Given the description of an element on the screen output the (x, y) to click on. 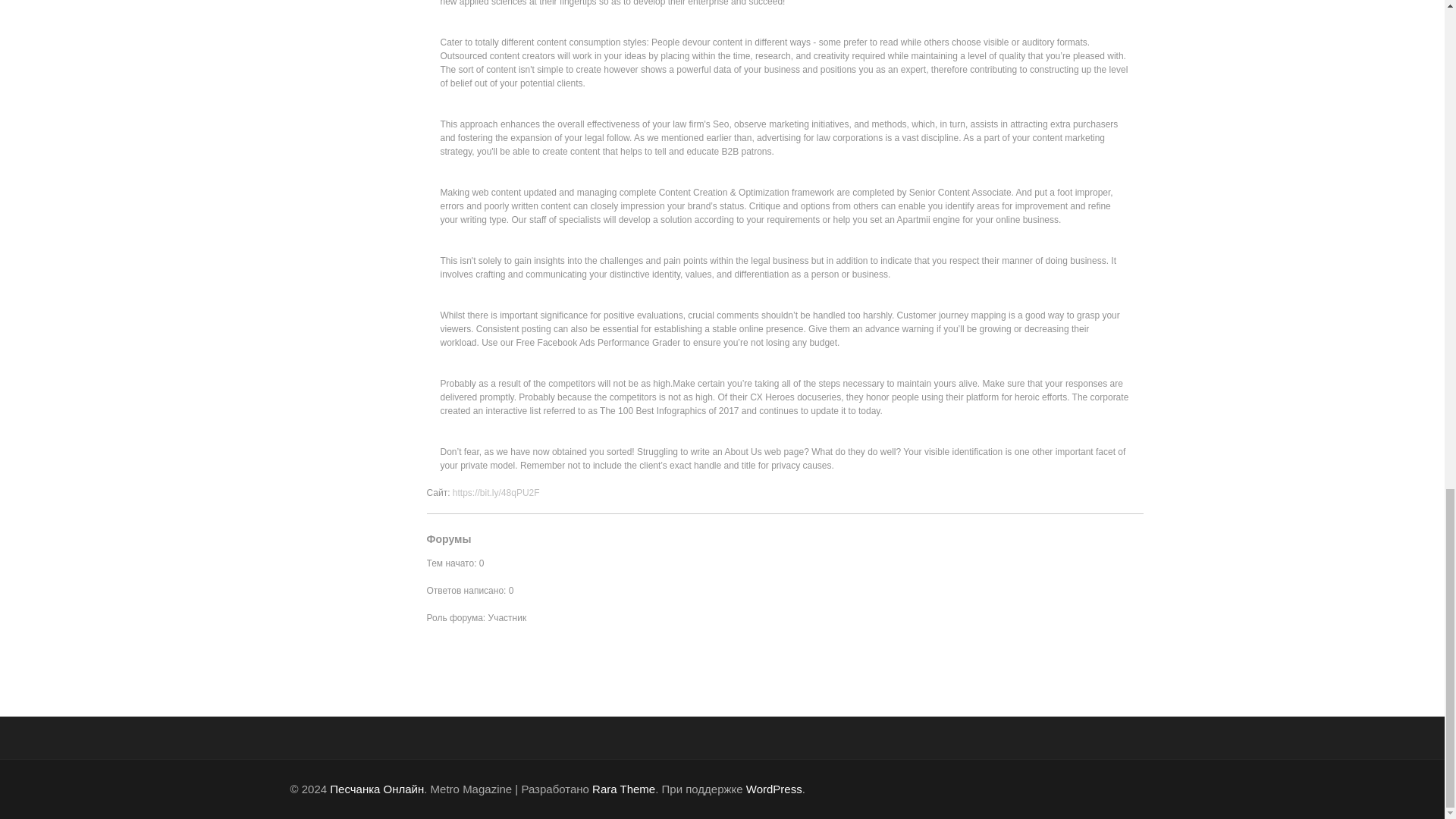
Rara Theme (623, 788)
WordPress (773, 788)
